Given the description of an element on the screen output the (x, y) to click on. 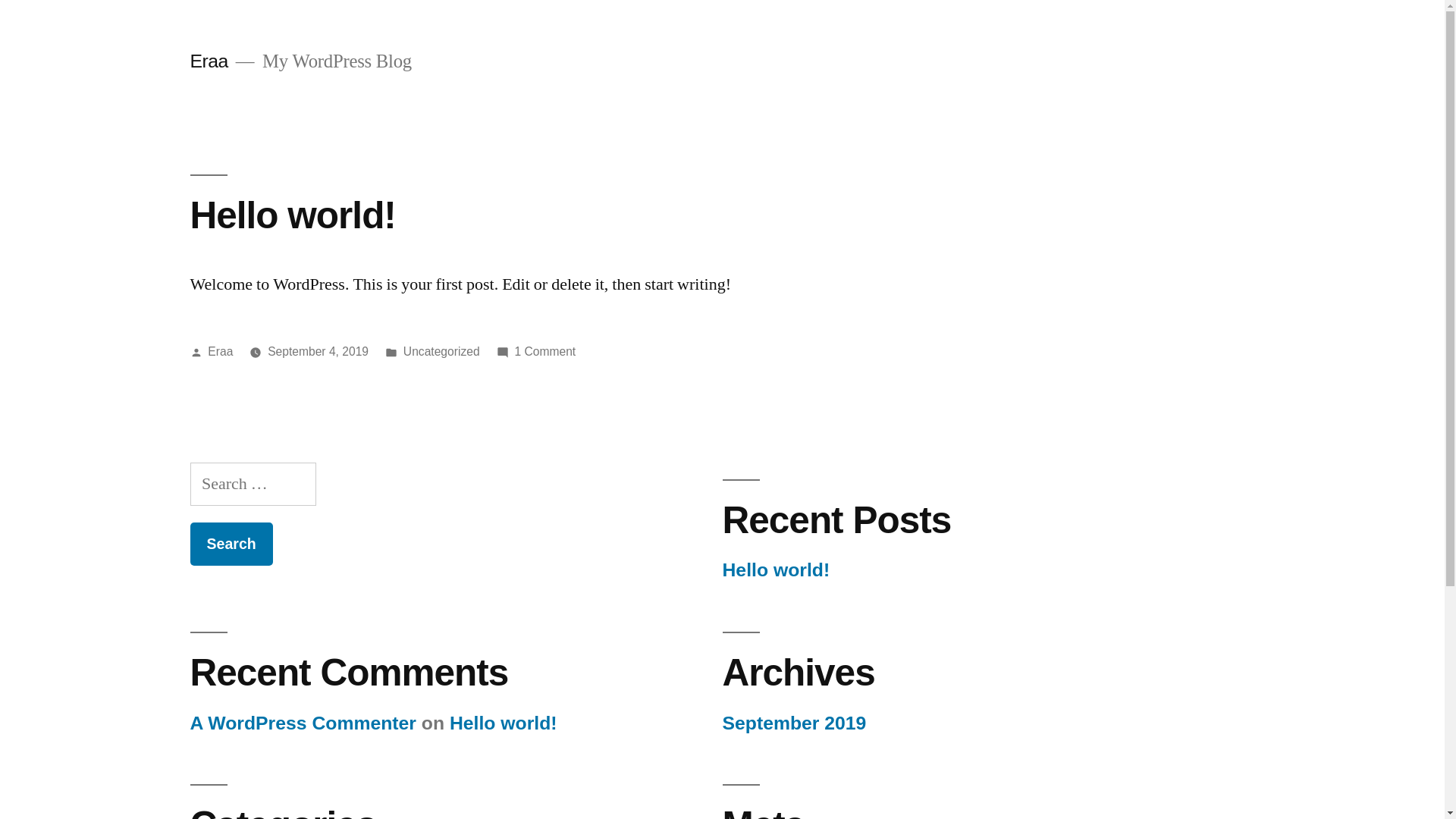
1 Comment
on Hello world! Element type: text (544, 351)
Hello world! Element type: text (775, 569)
A WordPress Commenter Element type: text (302, 722)
Hello world! Element type: text (503, 722)
Search Element type: text (230, 543)
Eraa Element type: text (219, 351)
Eraa Element type: text (208, 60)
Uncategorized Element type: text (441, 351)
Hello world! Element type: text (292, 214)
September 4, 2019 Element type: text (317, 351)
September 2019 Element type: text (793, 722)
